Given the description of an element on the screen output the (x, y) to click on. 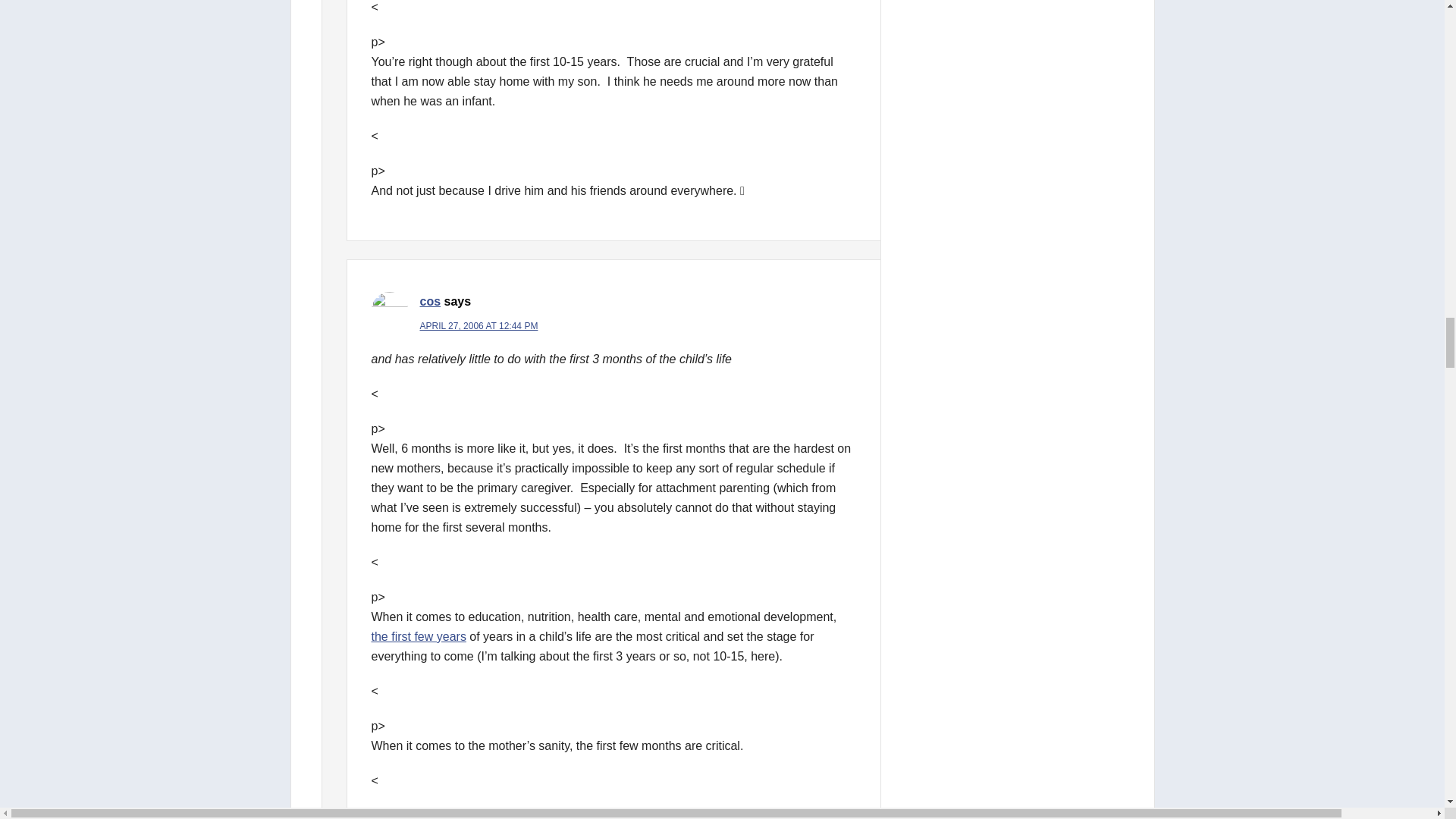
APRIL 27, 2006 AT 12:44 PM (479, 326)
cos (430, 300)
the first few years (418, 635)
